Given the description of an element on the screen output the (x, y) to click on. 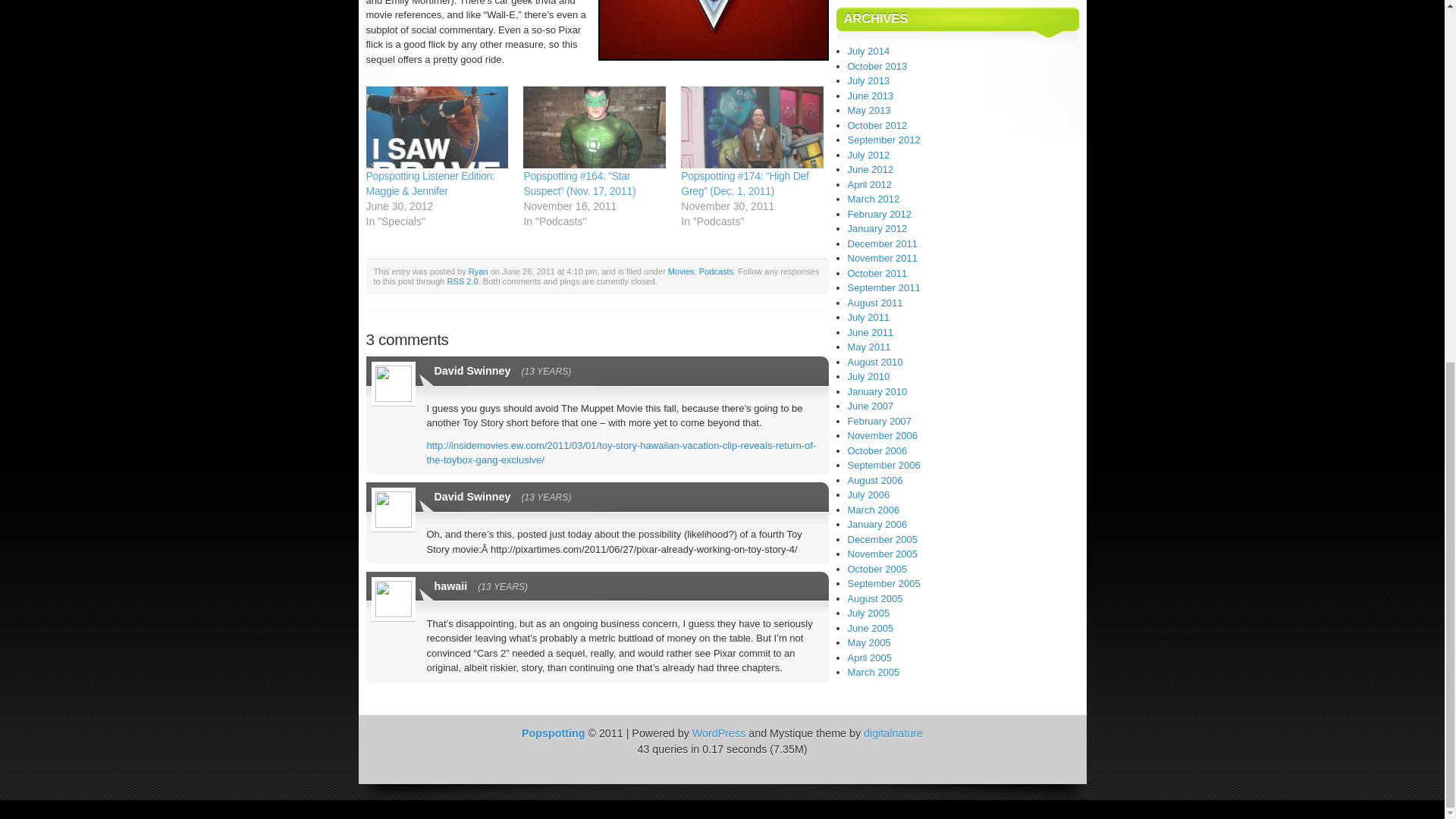
David Swinney (472, 496)
hawaii (450, 585)
David Swinney (472, 370)
Podcasts (715, 271)
Posts by Ryan  (477, 271)
RSS 2.0 (462, 280)
Movies (681, 271)
RSS 2.0 (462, 280)
Cars 2 Poster (712, 30)
Ryan (477, 271)
